Given the description of an element on the screen output the (x, y) to click on. 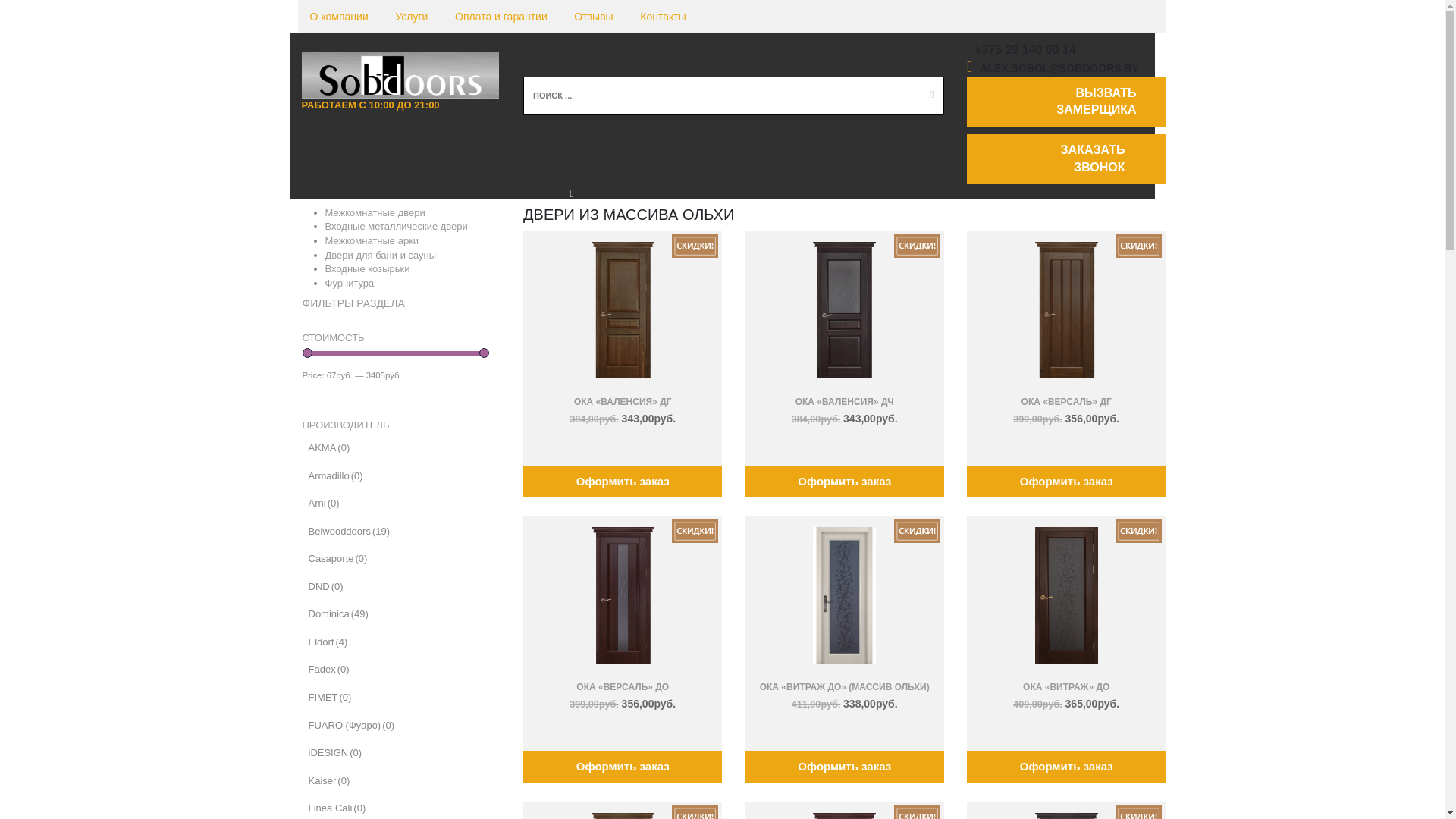
+375 29 140 00 14 Element type: text (1025, 49)
ALEX.SOBOL@SOBDOORS.BY Element type: text (1059, 68)
Sobdoors Element type: hover (399, 73)
Sobdoors Element type: hover (399, 75)
